Given the description of an element on the screen output the (x, y) to click on. 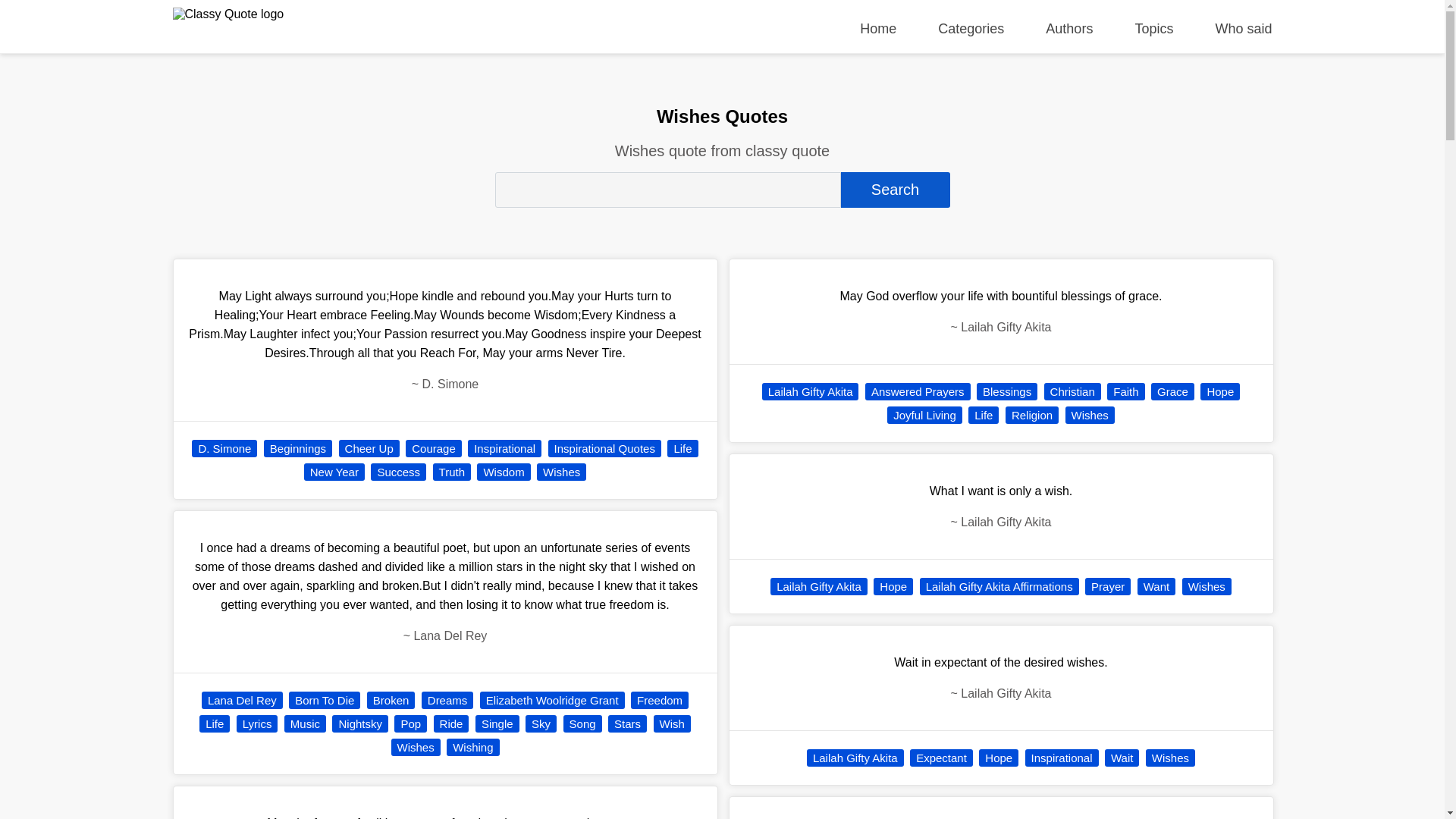
Stars (627, 723)
Truth (451, 471)
Song (582, 723)
Pop (410, 723)
Music (304, 723)
Who said (1242, 28)
Inspirational (504, 448)
Cheer Up (368, 448)
Life (681, 448)
Broken (390, 700)
Freedom (659, 700)
D. Simone (224, 448)
Search (894, 189)
Lyrics (256, 723)
Courage (433, 448)
